Given the description of an element on the screen output the (x, y) to click on. 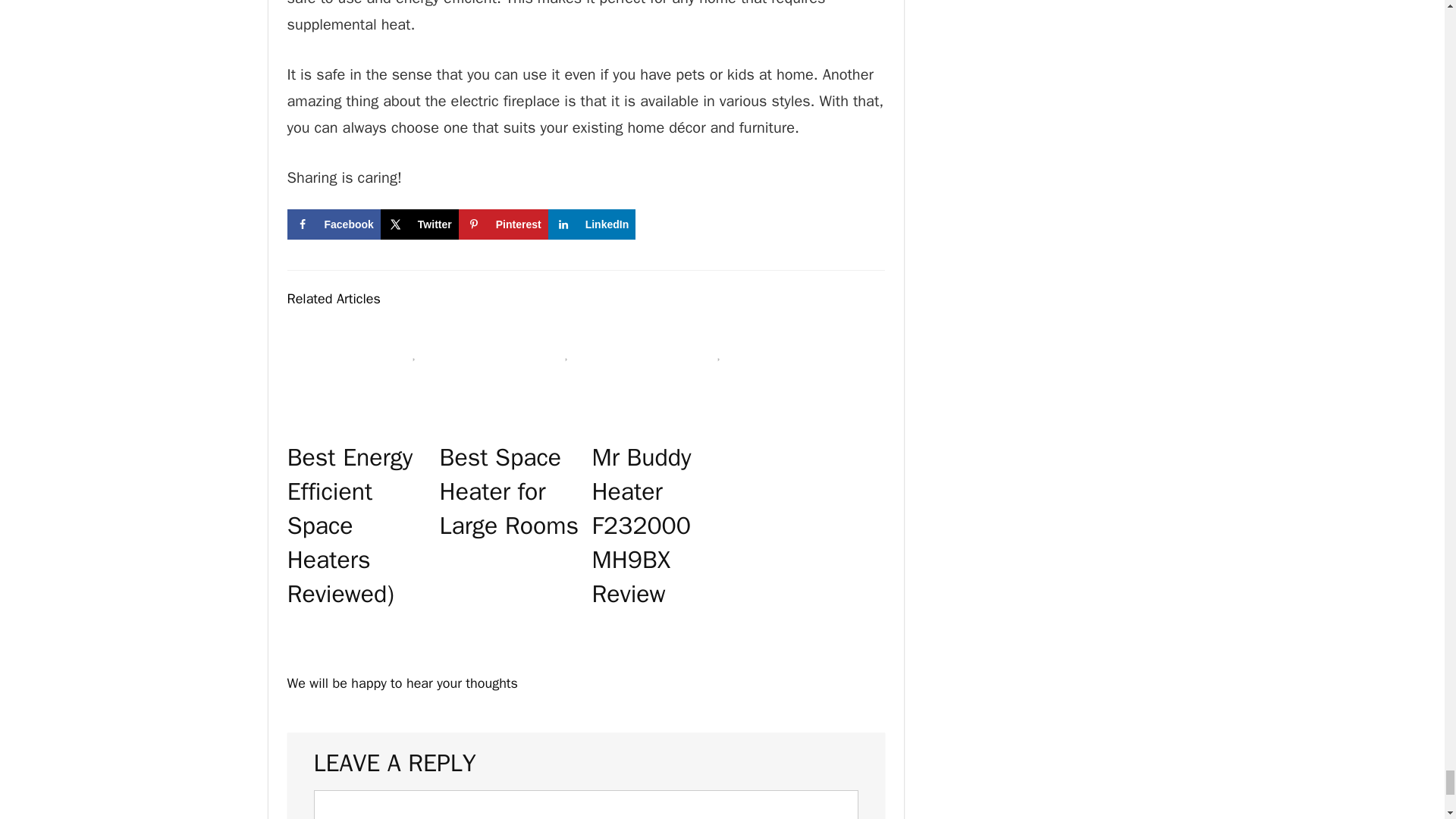
Share on Facebook (333, 224)
Share on X (419, 224)
Save to Pinterest (503, 224)
Share on LinkedIn (592, 224)
